Given the description of an element on the screen output the (x, y) to click on. 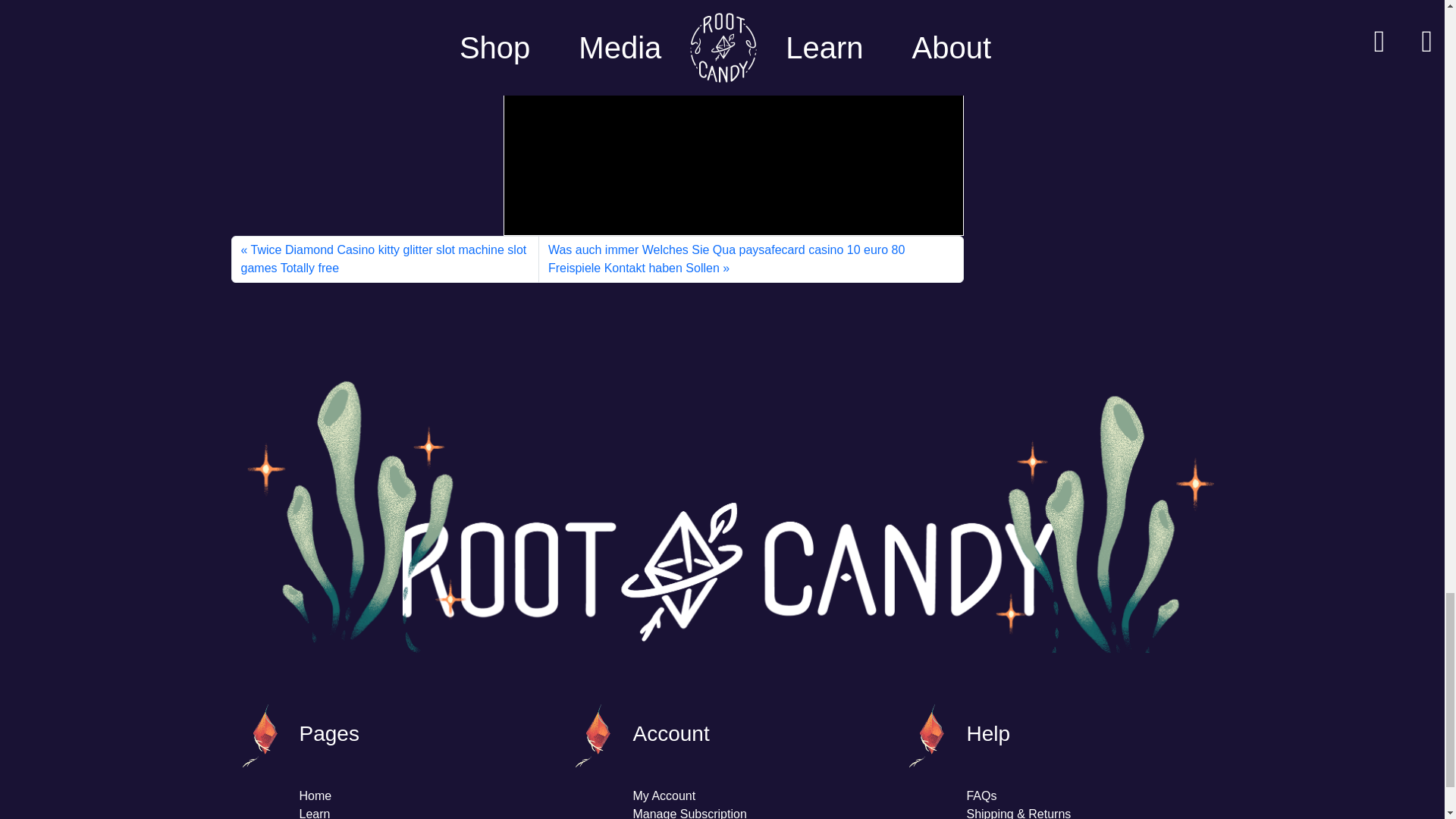
Home (314, 795)
Manage Subscription (688, 813)
FAQs (980, 795)
Learn (314, 813)
My Account (663, 795)
